Given the description of an element on the screen output the (x, y) to click on. 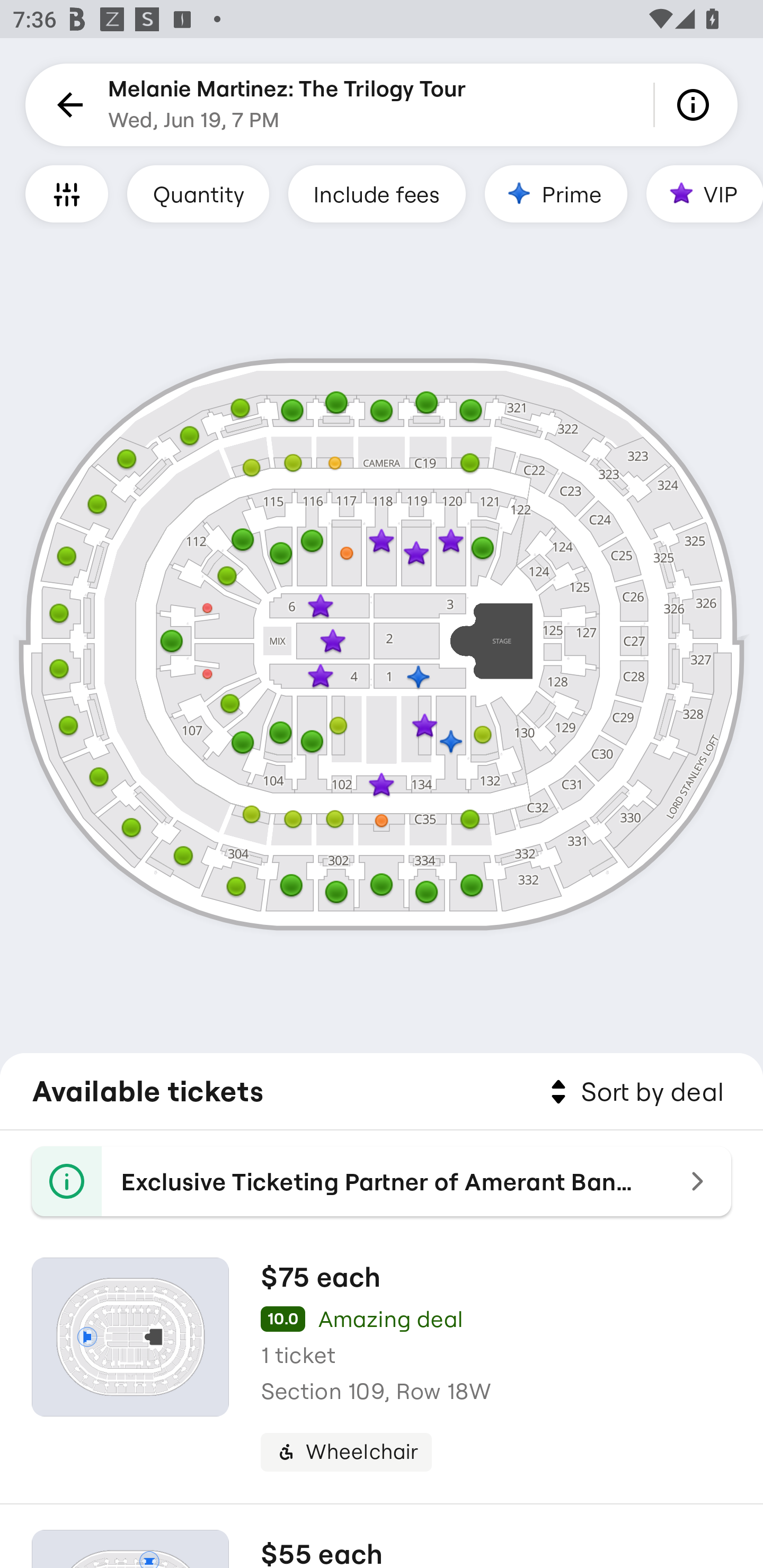
Back (66, 104)
Info (695, 104)
Filters and Accessible Seating (66, 193)
Quantity (198, 193)
Include fees (376, 193)
Prime (555, 193)
VIP (704, 193)
Sort by deal (633, 1091)
Exclusive Ticketing Partner of Amerant Bank Arena (381, 1181)
